Given the description of an element on the screen output the (x, y) to click on. 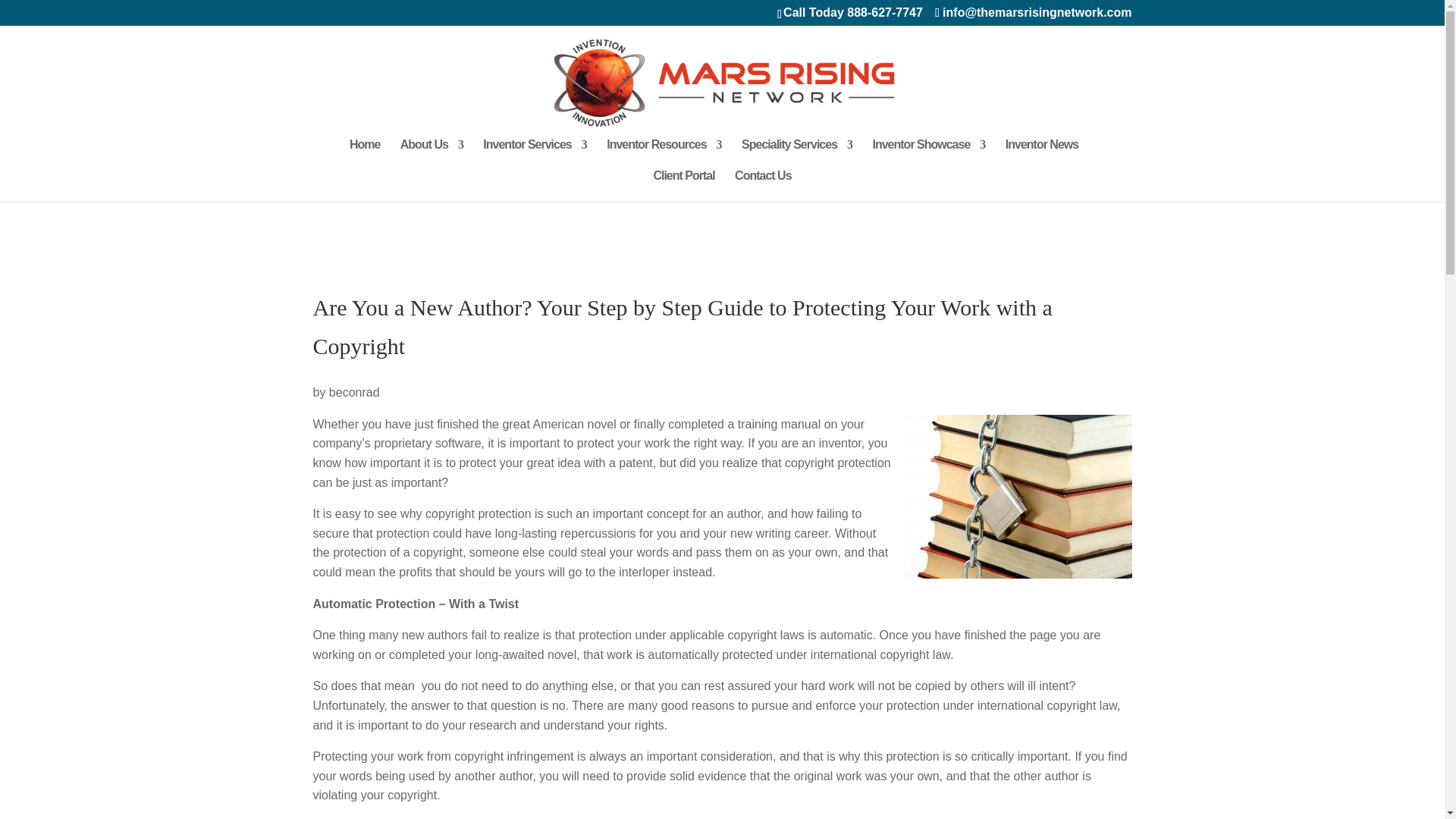
About Us (431, 154)
Inventor Services (534, 154)
Speciality Services (796, 154)
Inventor Resources (663, 154)
Home (364, 154)
Client Portal (683, 185)
Inventor Showcase (928, 154)
Call Today 888-627-7747 (853, 11)
Inventor News (1042, 154)
